Given the description of an element on the screen output the (x, y) to click on. 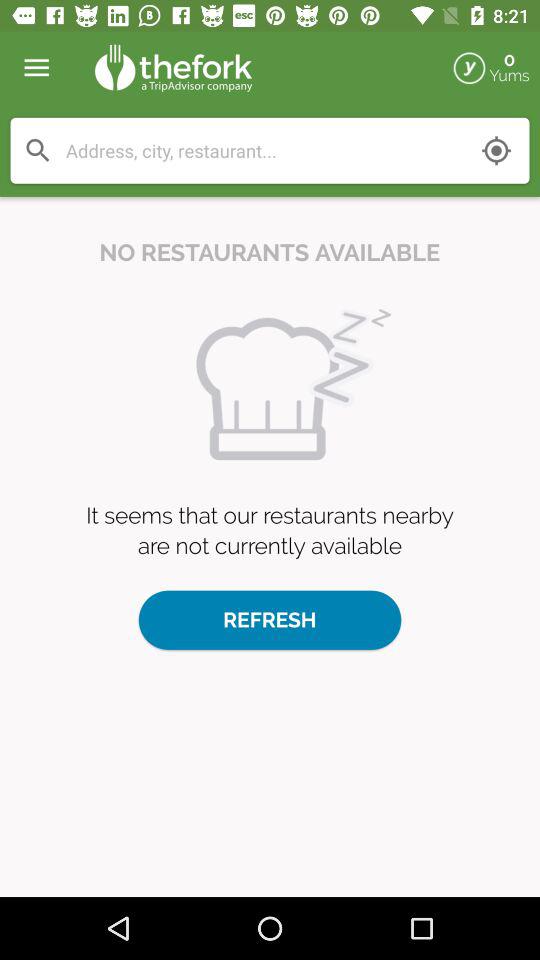
search nearby (496, 150)
